Given the description of an element on the screen output the (x, y) to click on. 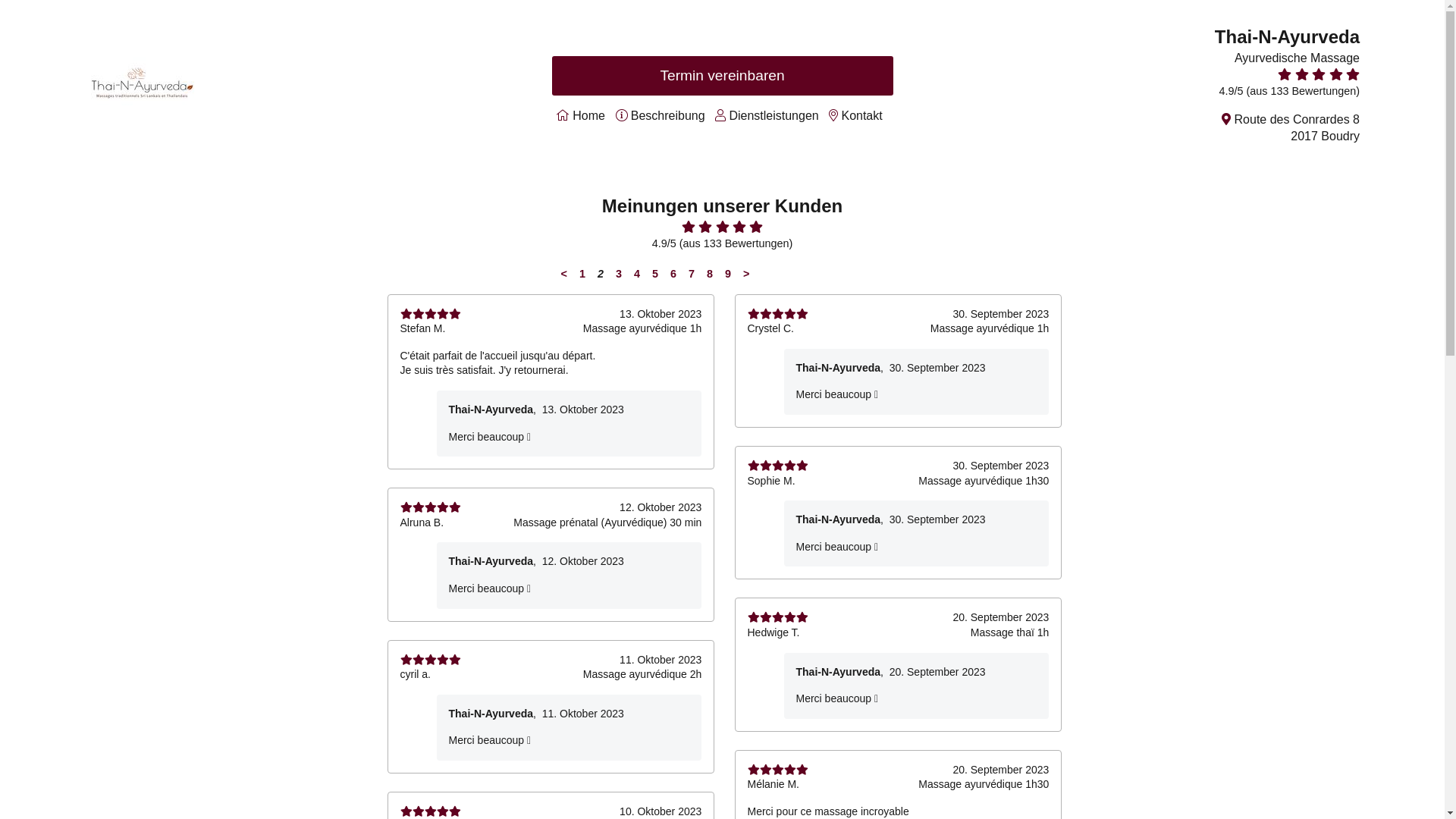
7 Element type: text (691, 273)
Route des Conrardes 8
2017 Boudry Element type: text (1296, 127)
9 Element type: text (727, 273)
6 Element type: text (673, 273)
5 Element type: text (655, 273)
> Element type: text (746, 273)
8 Element type: text (709, 273)
4 Element type: text (636, 273)
Dienstleistungen Element type: text (773, 115)
1 Element type: text (582, 273)
4.9/5 (aus 133 Bewertungen) Element type: text (1288, 90)
Termin vereinbaren Element type: text (722, 75)
Beschreibung Element type: text (667, 115)
Home Element type: text (588, 115)
< Element type: text (564, 273)
3 Element type: text (618, 273)
4.9/5 (aus 133 Bewertungen) Element type: text (722, 243)
Kontakt Element type: text (860, 115)
